Given the description of an element on the screen output the (x, y) to click on. 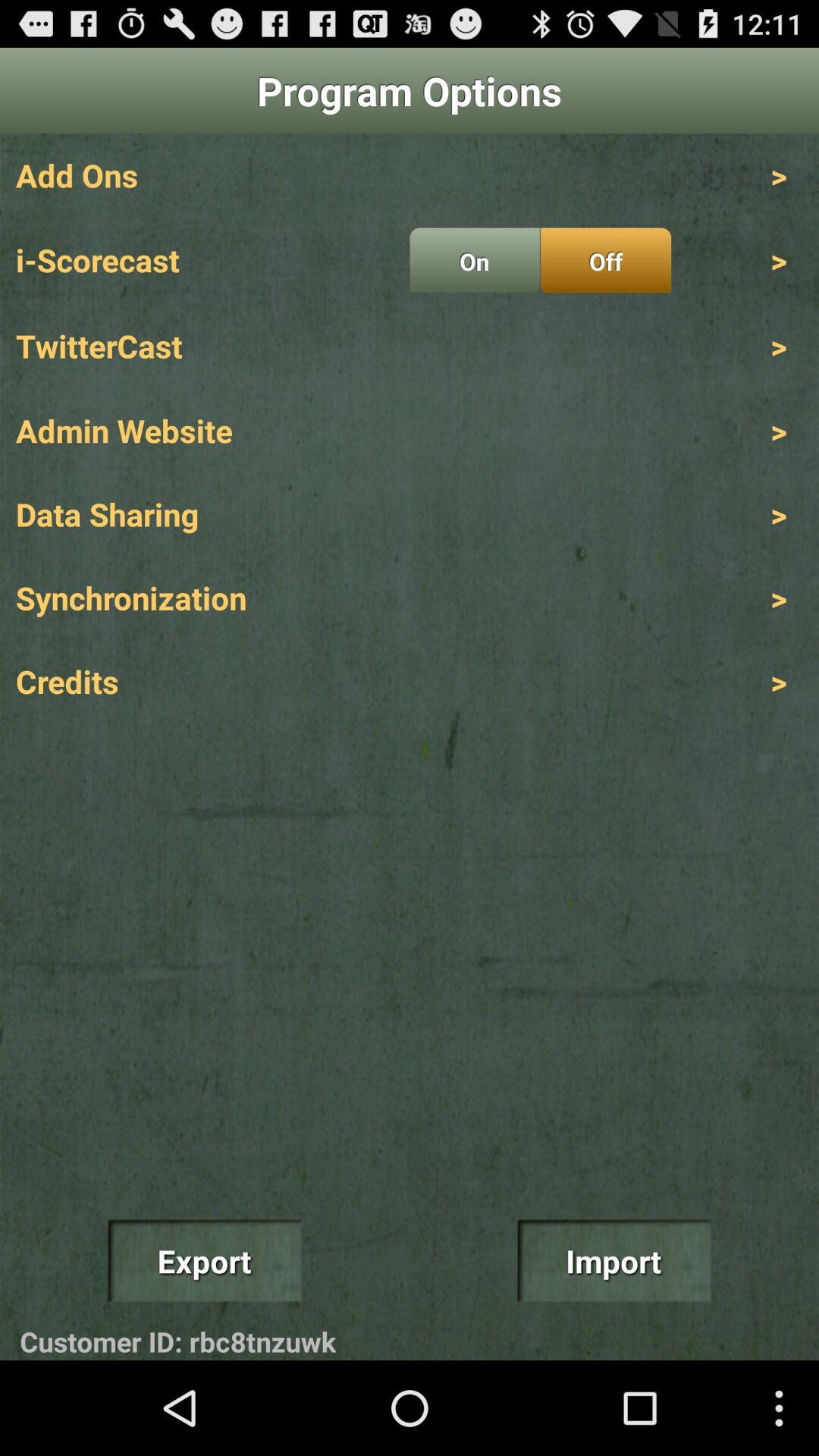
jump to on radio button (474, 259)
